Given the description of an element on the screen output the (x, y) to click on. 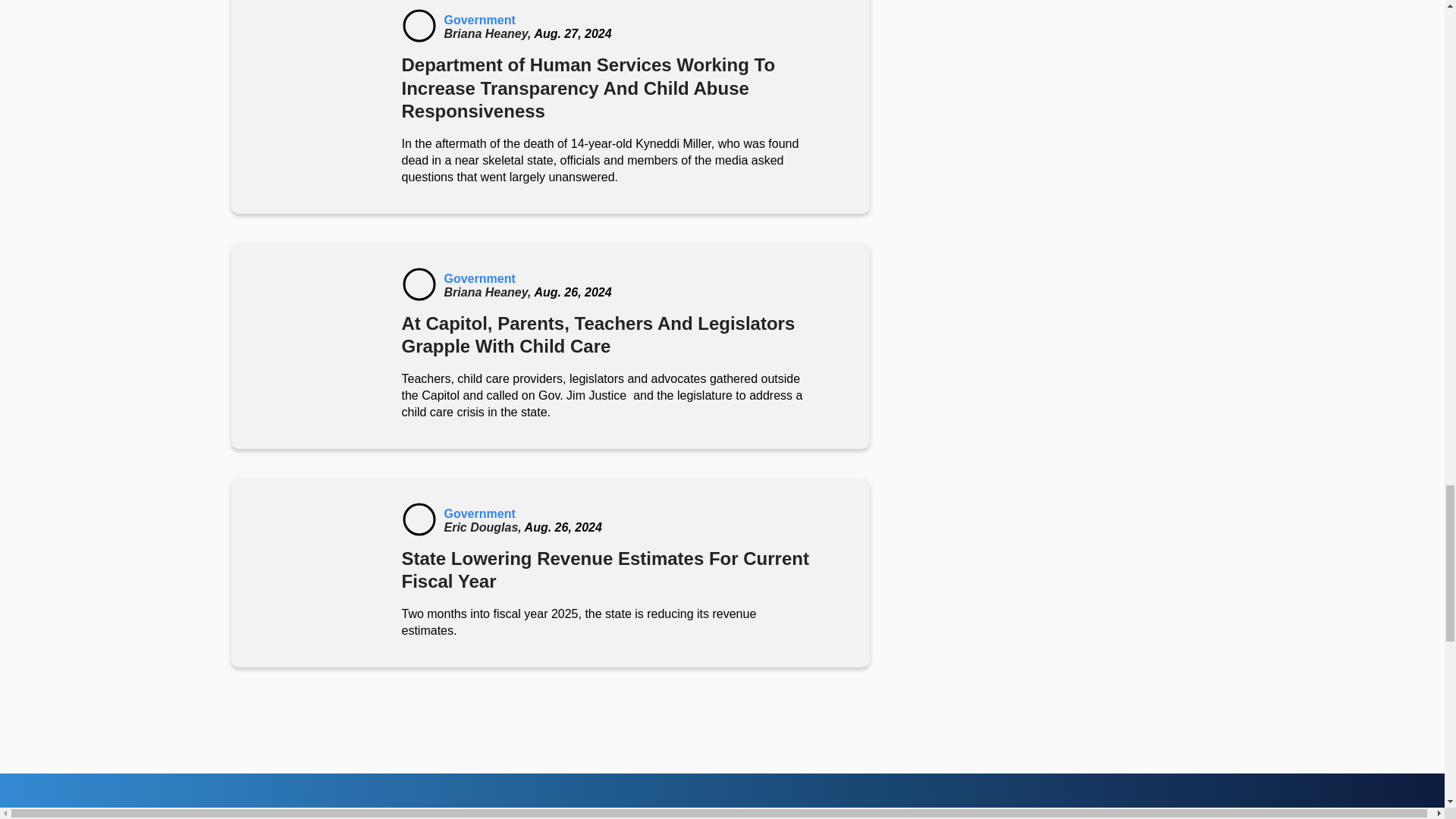
Briana Heaney (489, 33)
